Given the description of an element on the screen output the (x, y) to click on. 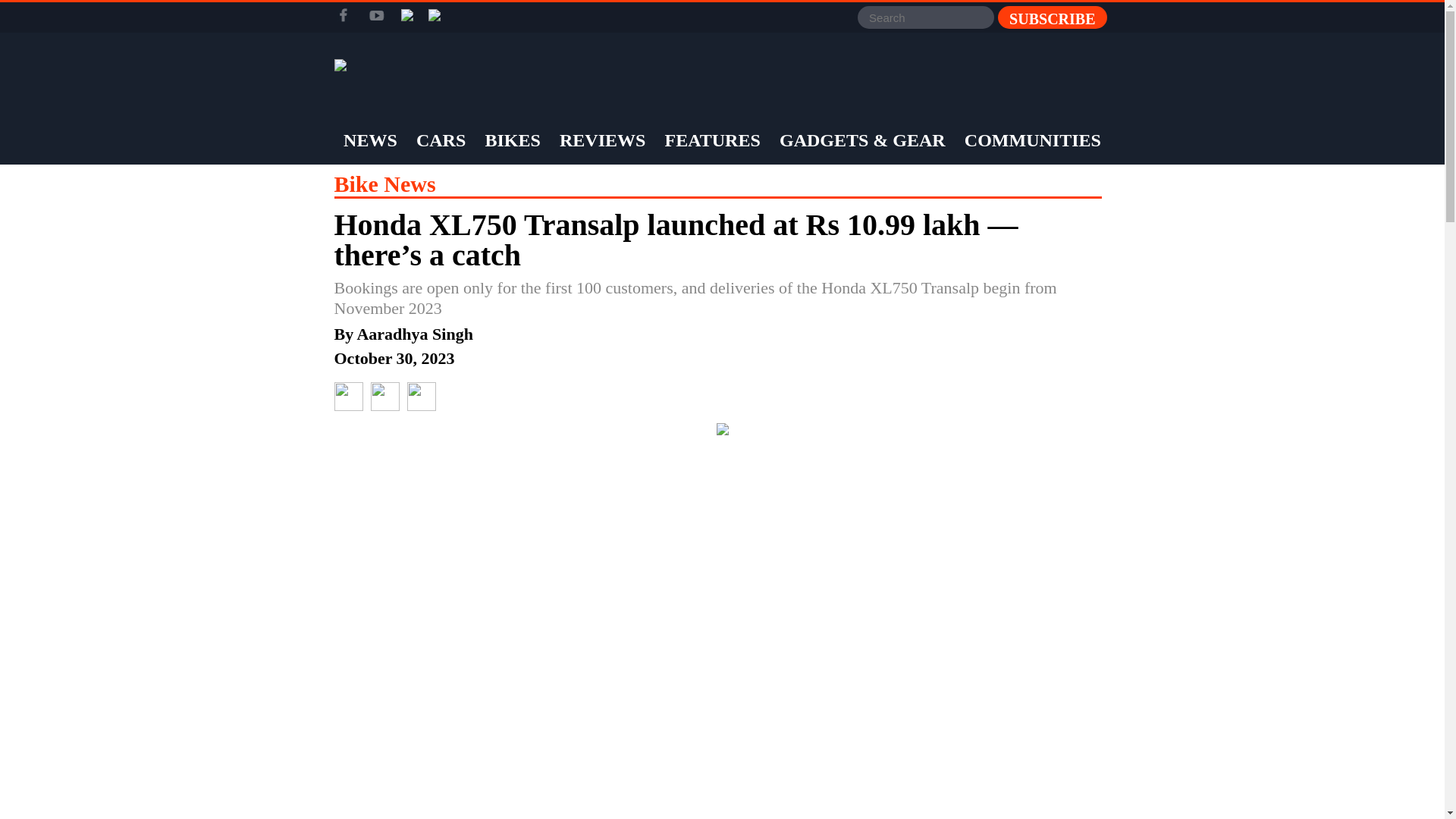
Bike News (384, 183)
Posts by Aaradhya Singh (413, 333)
CARS (440, 140)
FEATURES (712, 140)
NEWS (370, 140)
BIKES (511, 140)
REVIEWS (602, 140)
Aaradhya Singh (413, 333)
COMMUNITIES (1032, 140)
SUBSCRIBE (1051, 16)
